Given the description of an element on the screen output the (x, y) to click on. 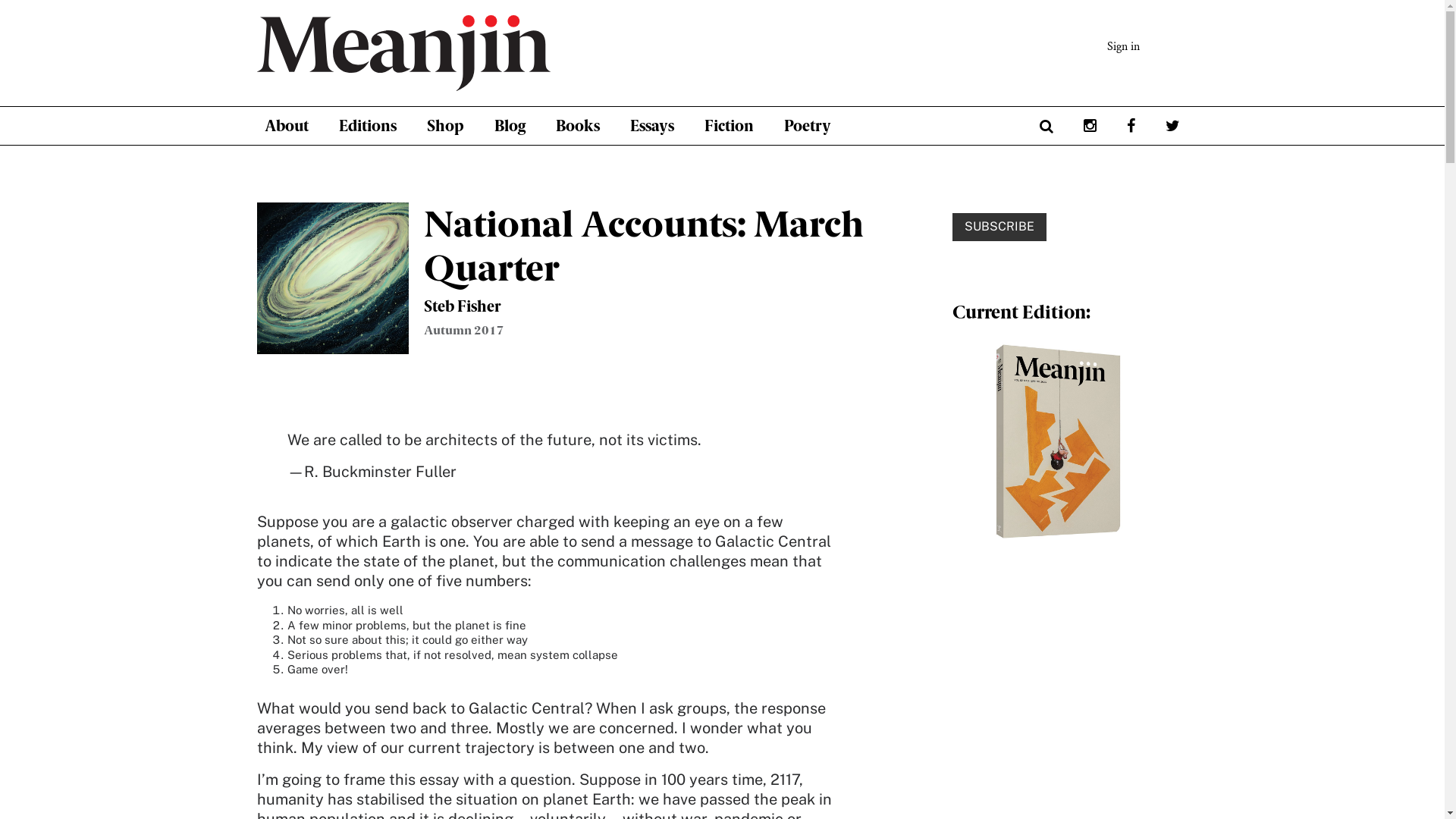
SUBSCRIBE Element type: text (999, 227)
Sign in Element type: text (1123, 46)
About Element type: text (286, 125)
Shop Element type: text (445, 125)
Books Element type: text (577, 125)
Meanjin Element type: text (479, 53)
Poetry Element type: text (807, 125)
Editions Element type: text (367, 125)
Blog Element type: text (509, 125)
Fiction Element type: text (728, 125)
Essays Element type: text (652, 125)
